Given the description of an element on the screen output the (x, y) to click on. 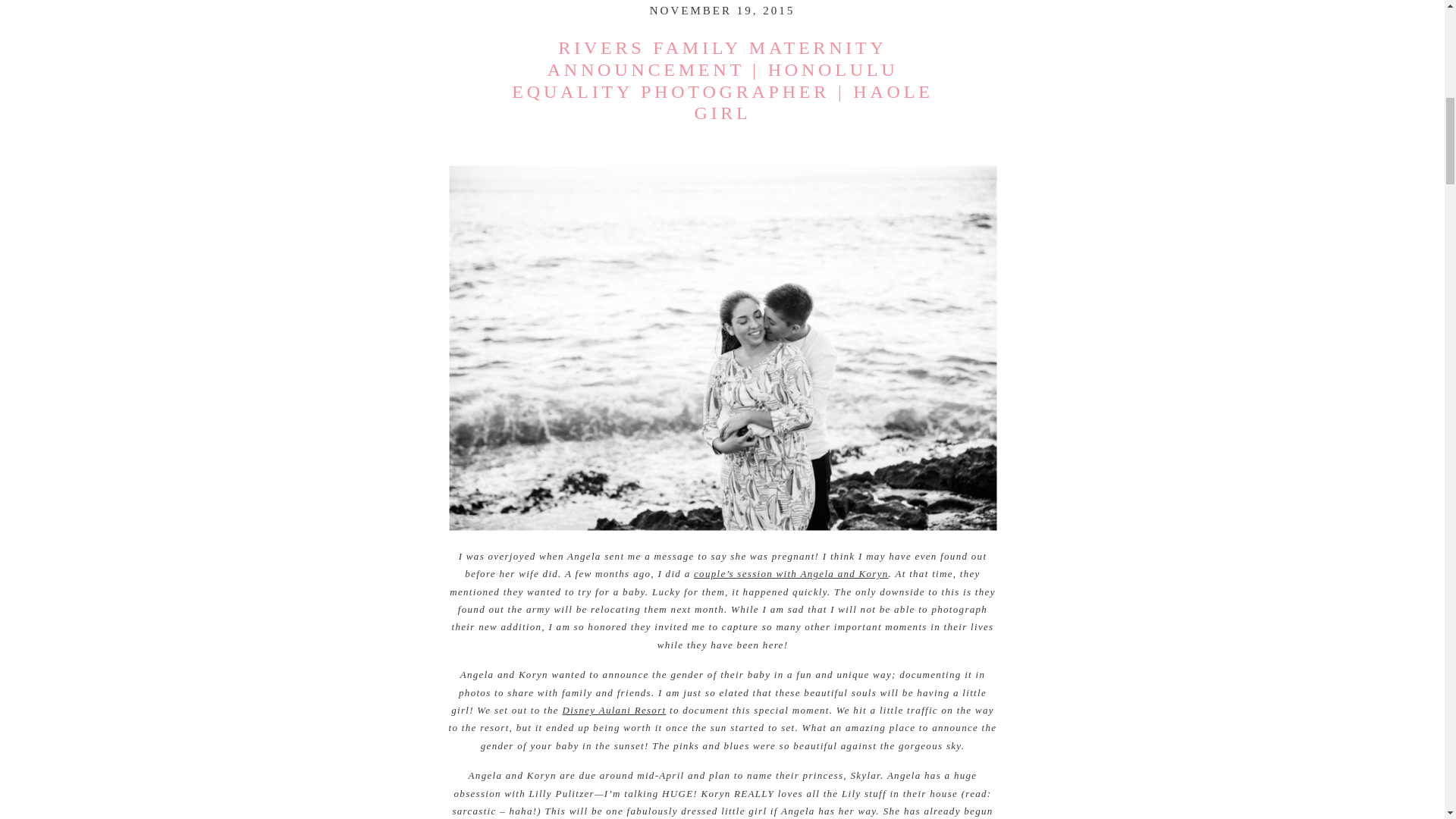
Disney Aulani Resort (613, 709)
